Given the description of an element on the screen output the (x, y) to click on. 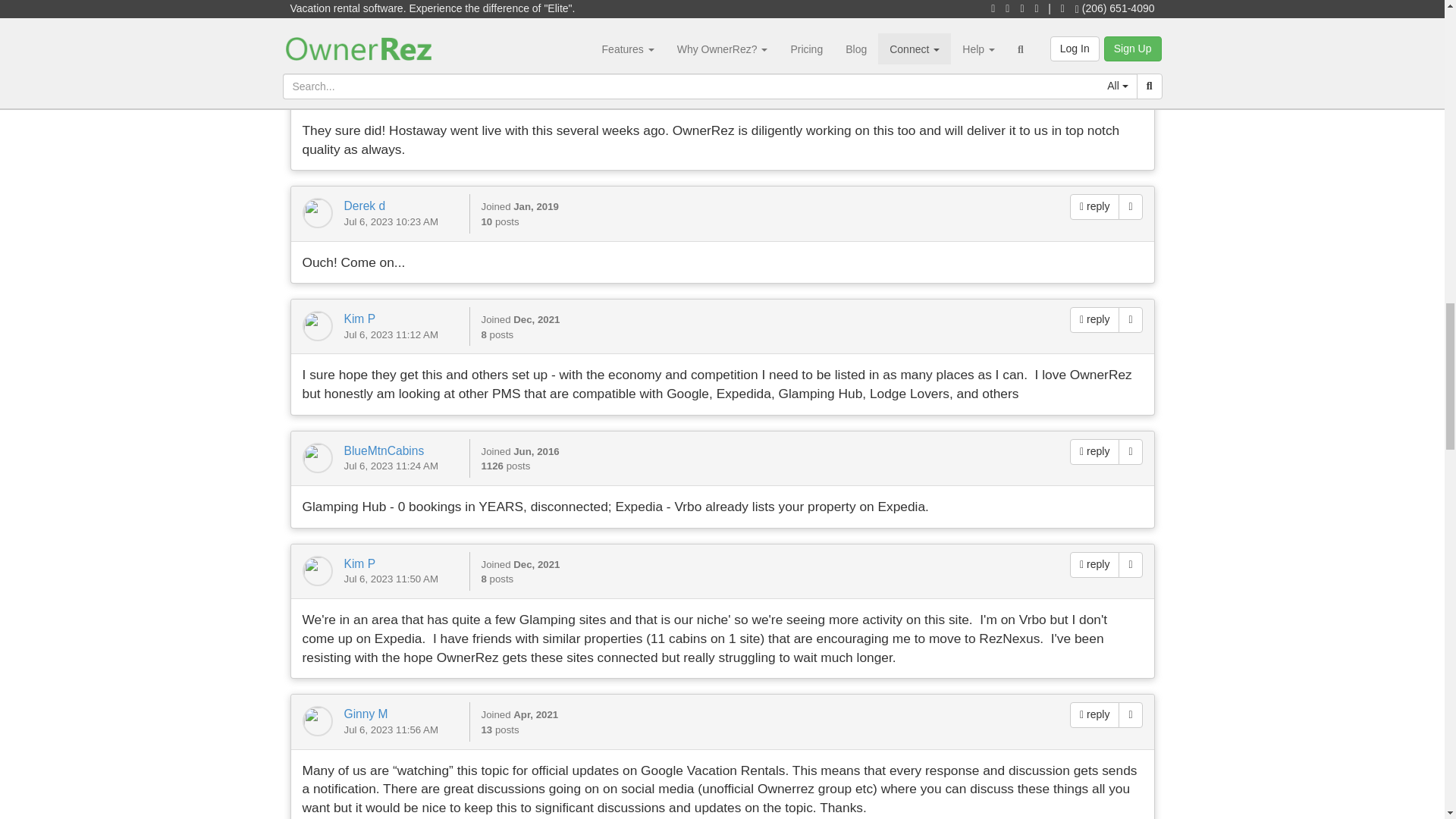
Permanent link (1129, 565)
Permanent link (1129, 207)
Permanent link (1129, 319)
Permanent link (1129, 451)
Permanent link (1129, 75)
Permanent link (1129, 714)
